Given the description of an element on the screen output the (x, y) to click on. 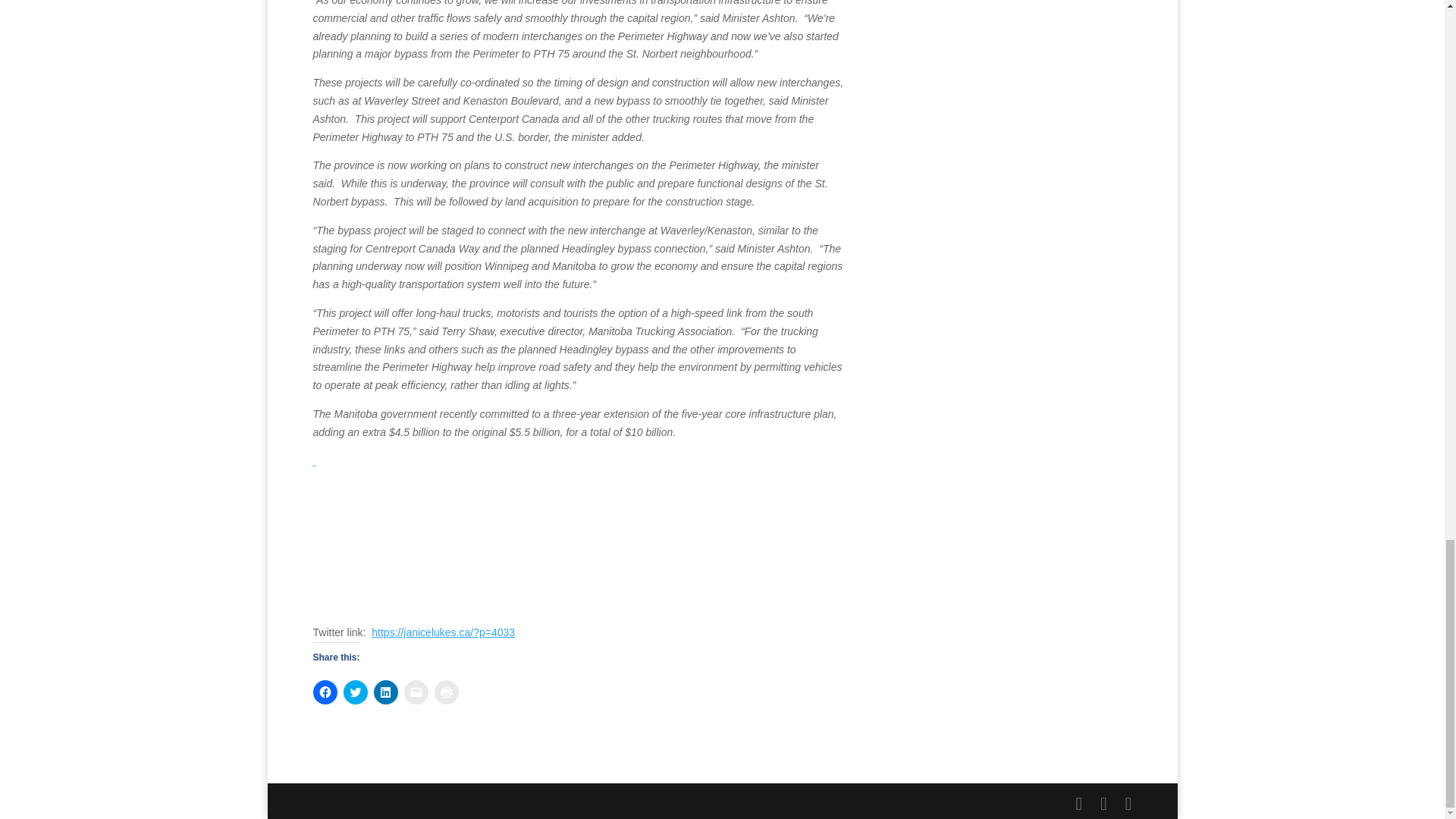
Click to share on Twitter (354, 692)
Click to print (445, 692)
Click to share on LinkedIn (384, 692)
Click to email a link to a friend (415, 692)
Click to share on Facebook (324, 692)
